Given the description of an element on the screen output the (x, y) to click on. 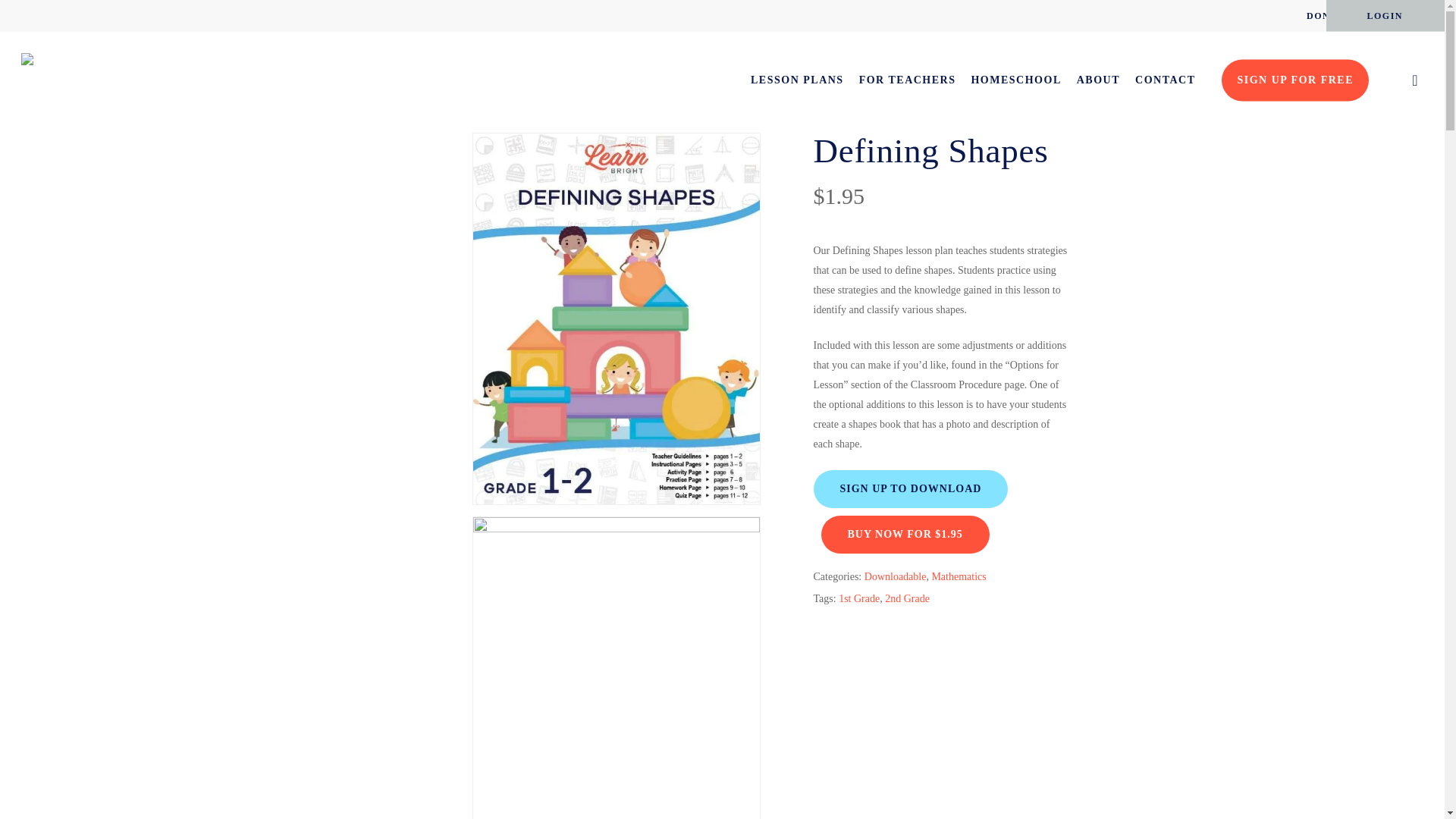
2nd Grade (907, 598)
Downloadable (895, 576)
Home (384, 110)
LESSON PLANS (797, 79)
Mathematics (958, 576)
FOR TEACHERS (907, 79)
LOGIN (1385, 15)
DONATE (1328, 15)
1st Grade (858, 598)
SIGN UP FOR FREE (1294, 79)
ABOUT (1098, 79)
SIGN UP TO DOWNLOAD (909, 488)
Lesson Plans (442, 110)
CONTACT (1165, 79)
Mathematics (512, 110)
